Given the description of an element on the screen output the (x, y) to click on. 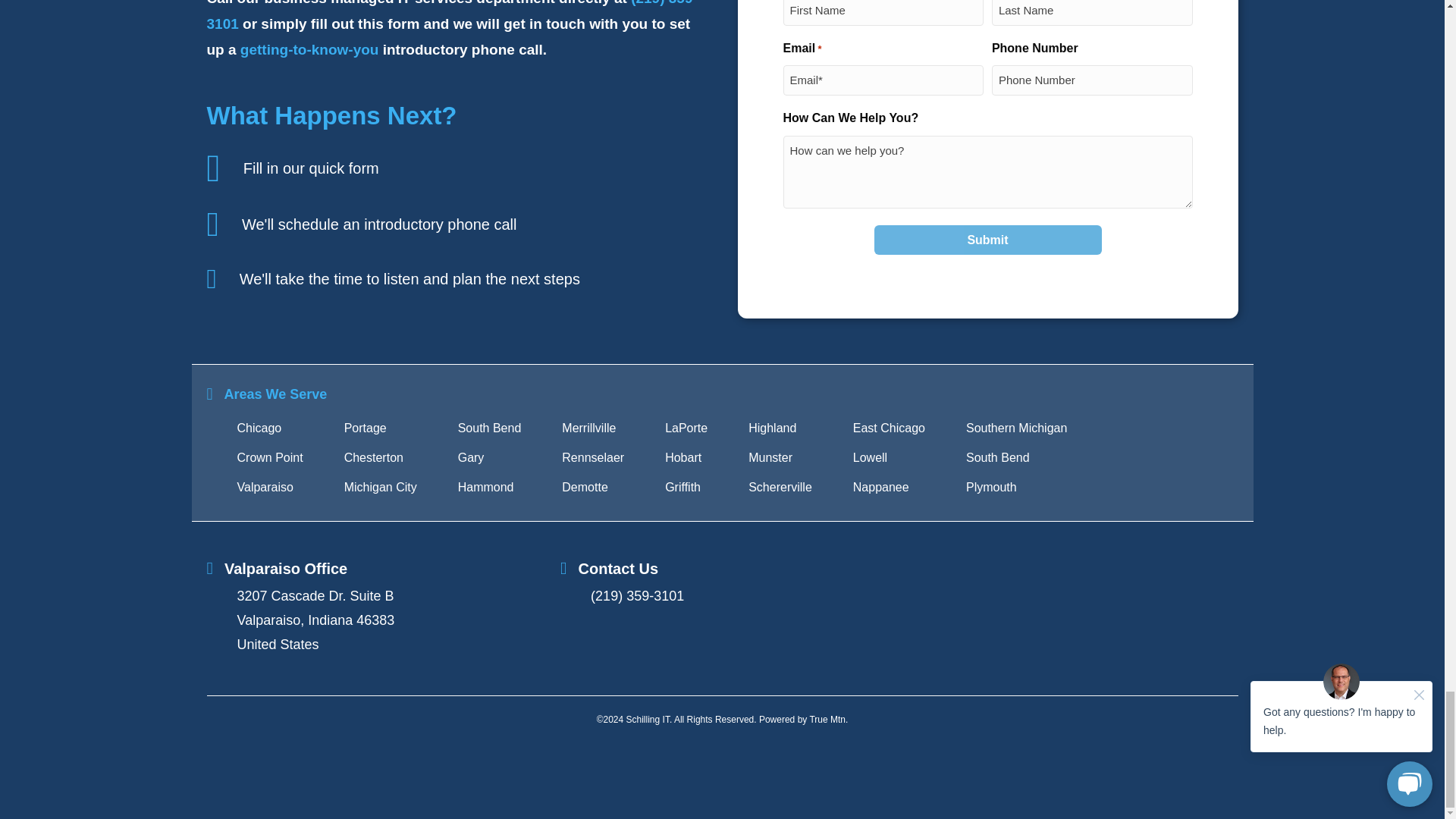
Submit (986, 239)
